Given the description of an element on the screen output the (x, y) to click on. 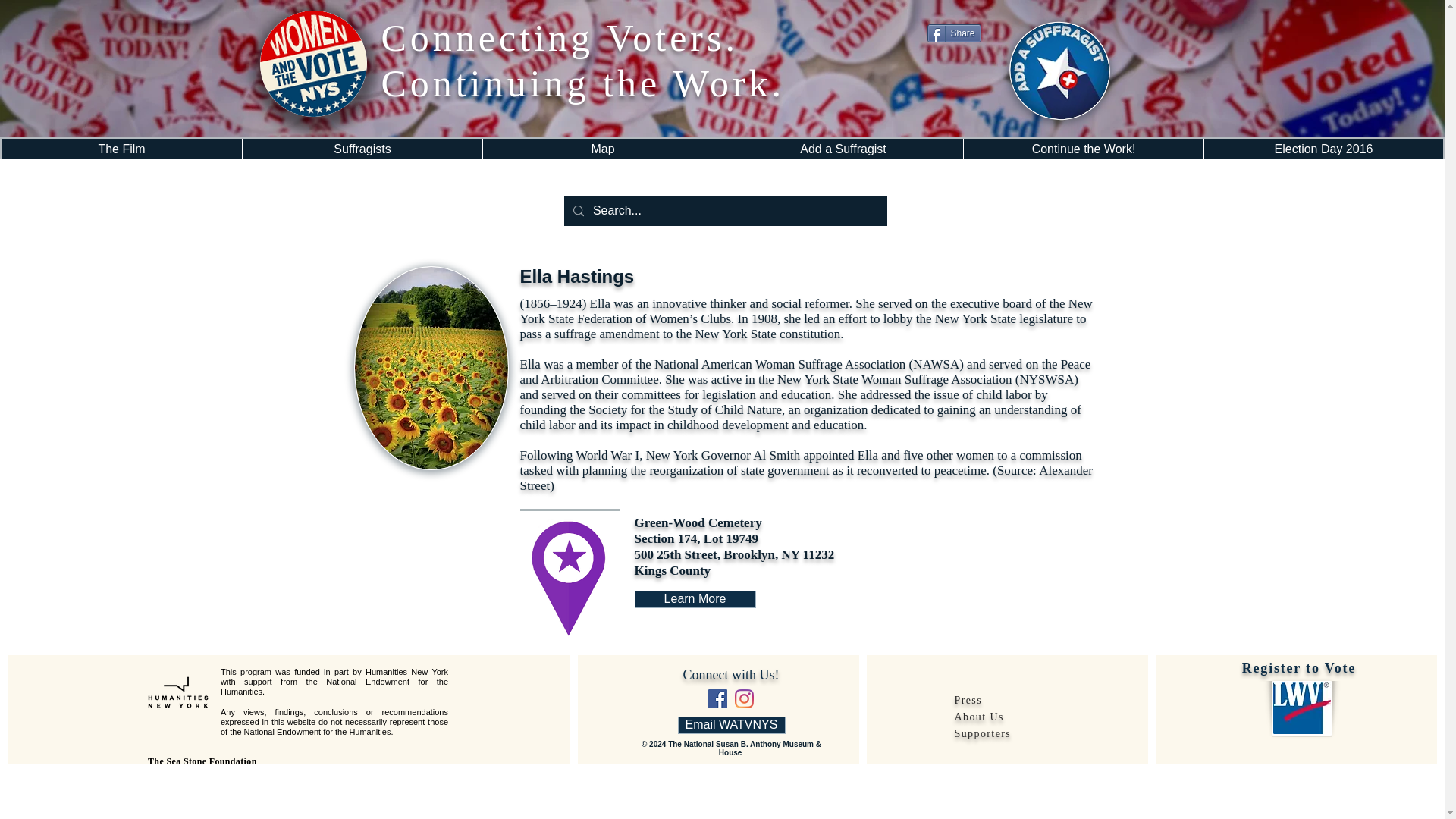
Continue the Work! (1083, 148)
Election Day 2016 (1323, 148)
Map (601, 148)
Suffragists (361, 148)
Add a Suffragist (842, 148)
Share (952, 33)
About Us (978, 716)
Twitter Follow (955, 71)
Email WATVNYS (732, 724)
Supporters (981, 733)
